Given the description of an element on the screen output the (x, y) to click on. 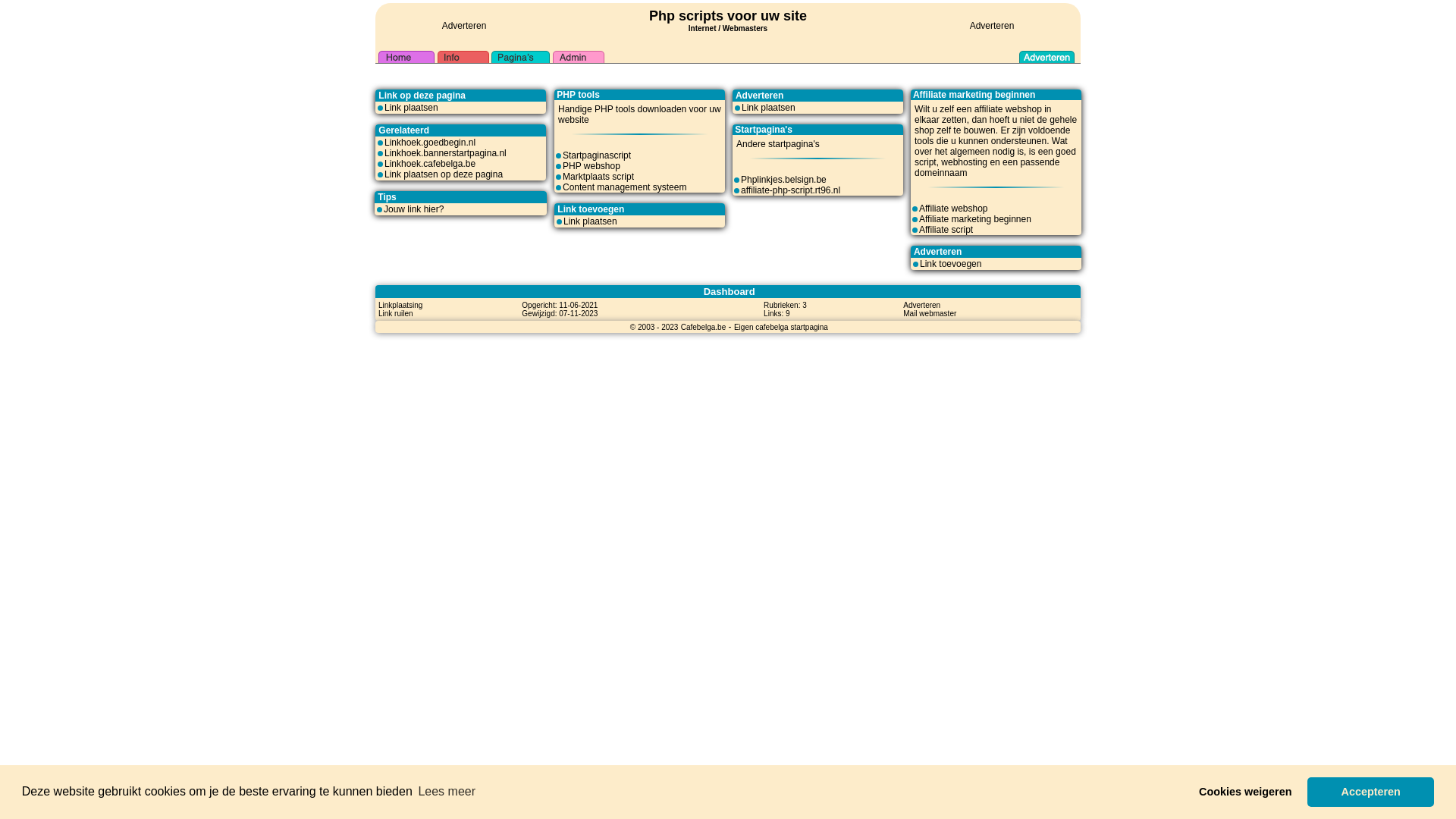
Link plaatsen op deze pagina Element type: text (443, 174)
Adverteren Element type: text (921, 304)
Php scripts voor uw site Element type: text (727, 15)
Lees meer Element type: text (446, 791)
Jouw link hier? Element type: text (413, 208)
Linkhoek.goedbegin.nl Element type: text (429, 142)
Mail webmaster Element type: text (929, 312)
Adverteren Element type: text (464, 25)
Link plaatsen Element type: text (411, 107)
Link ruilen Element type: text (395, 312)
Marktplaats script Element type: text (597, 176)
PHP webshop Element type: text (591, 165)
Linkhoek.bannerstartpagina.nl Element type: text (445, 152)
Link toevoegen Element type: text (950, 263)
Linkhoek.cafebelga.be Element type: text (429, 163)
Link plaatsen Element type: text (590, 221)
Cafebelga.be Element type: text (703, 326)
Phplinkjes.belsign.be Element type: text (783, 179)
Affiliate marketing beginnen Element type: text (975, 218)
Link plaatsen Element type: text (768, 107)
Eigen cafebelga startpagina Element type: text (781, 326)
Content management systeem Element type: text (624, 187)
Cookies weigeren Element type: text (1245, 791)
Webmasters Element type: text (744, 28)
Startpaginascript Element type: text (596, 155)
Internet Element type: text (702, 26)
affiliate-php-script.rt96.nl Element type: text (790, 190)
Affiliate script Element type: text (945, 229)
Linkplaatsing Element type: text (400, 304)
Adverteren Element type: text (991, 25)
Accepteren Element type: text (1370, 791)
Affiliate webshop Element type: text (953, 208)
